Given the description of an element on the screen output the (x, y) to click on. 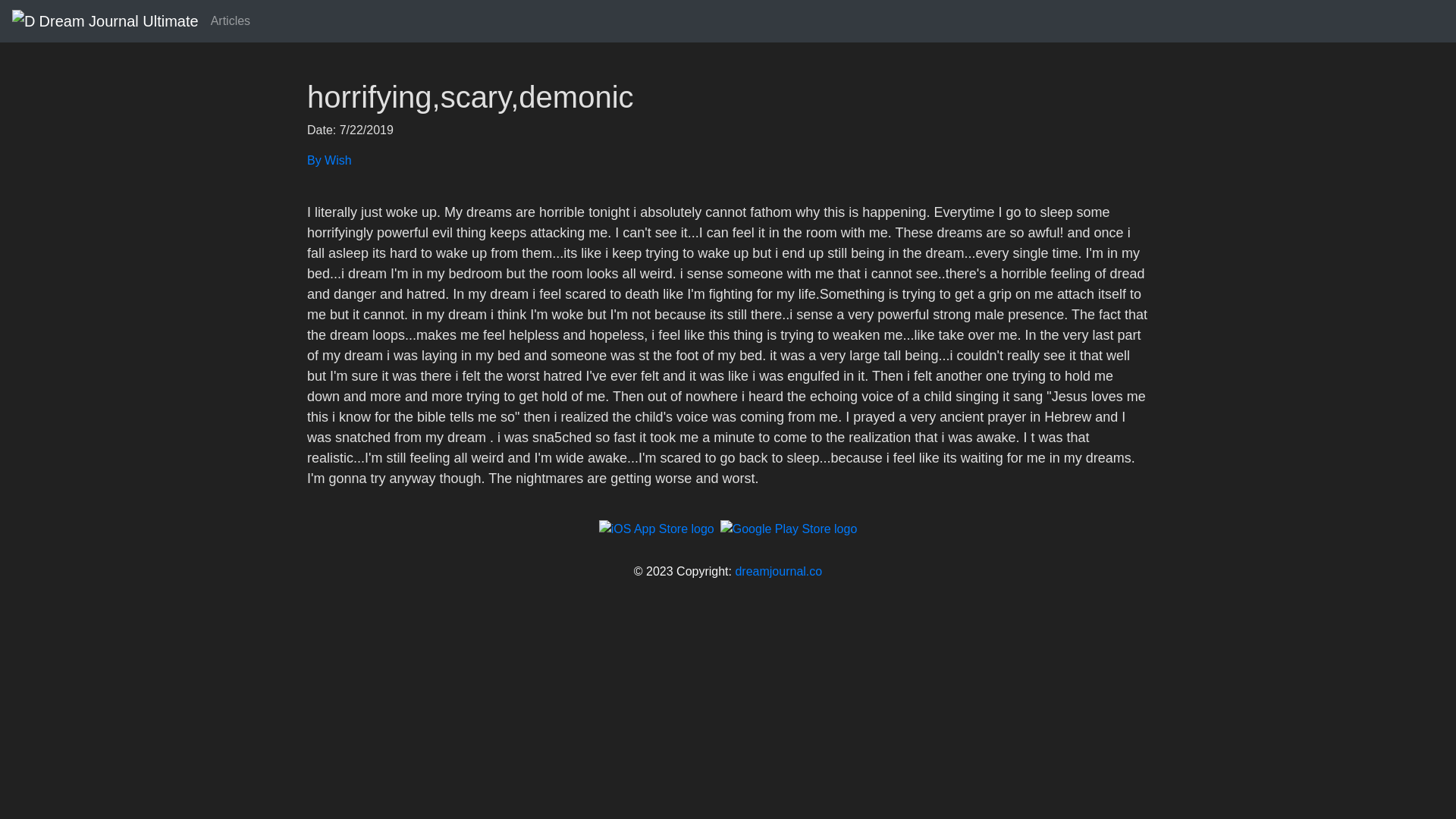
Dream Journal Ultimate (104, 20)
Articles (230, 20)
By Wish (727, 160)
dreamjournal.co (778, 571)
